Given the description of an element on the screen output the (x, y) to click on. 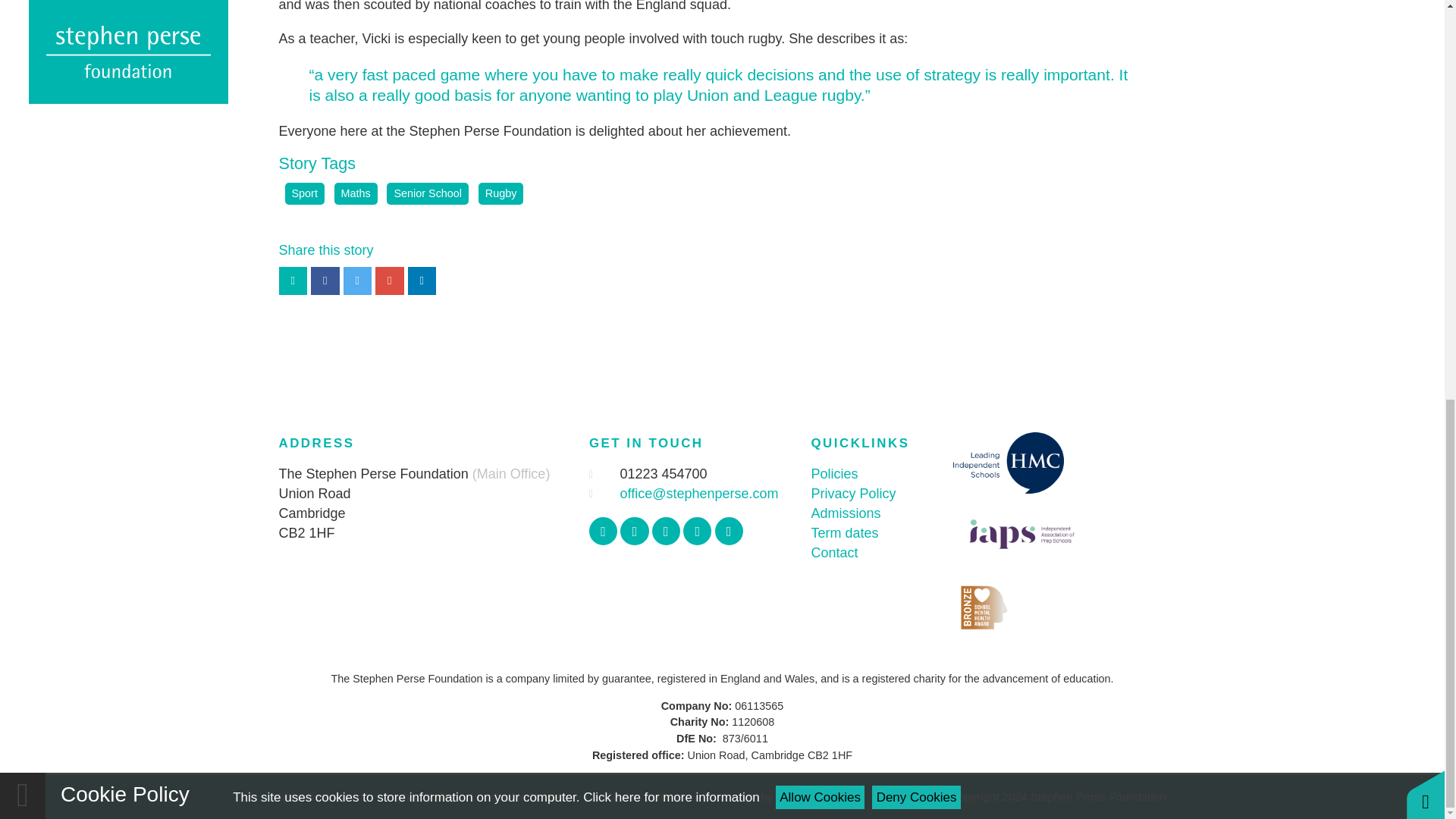
Twitter (633, 530)
Allow Cookies (820, 19)
YouTube (696, 530)
Facebook (603, 530)
LinkedIn (728, 530)
Cookie Settings (644, 796)
See cookie policy (670, 19)
Instagram (665, 530)
